Given the description of an element on the screen output the (x, y) to click on. 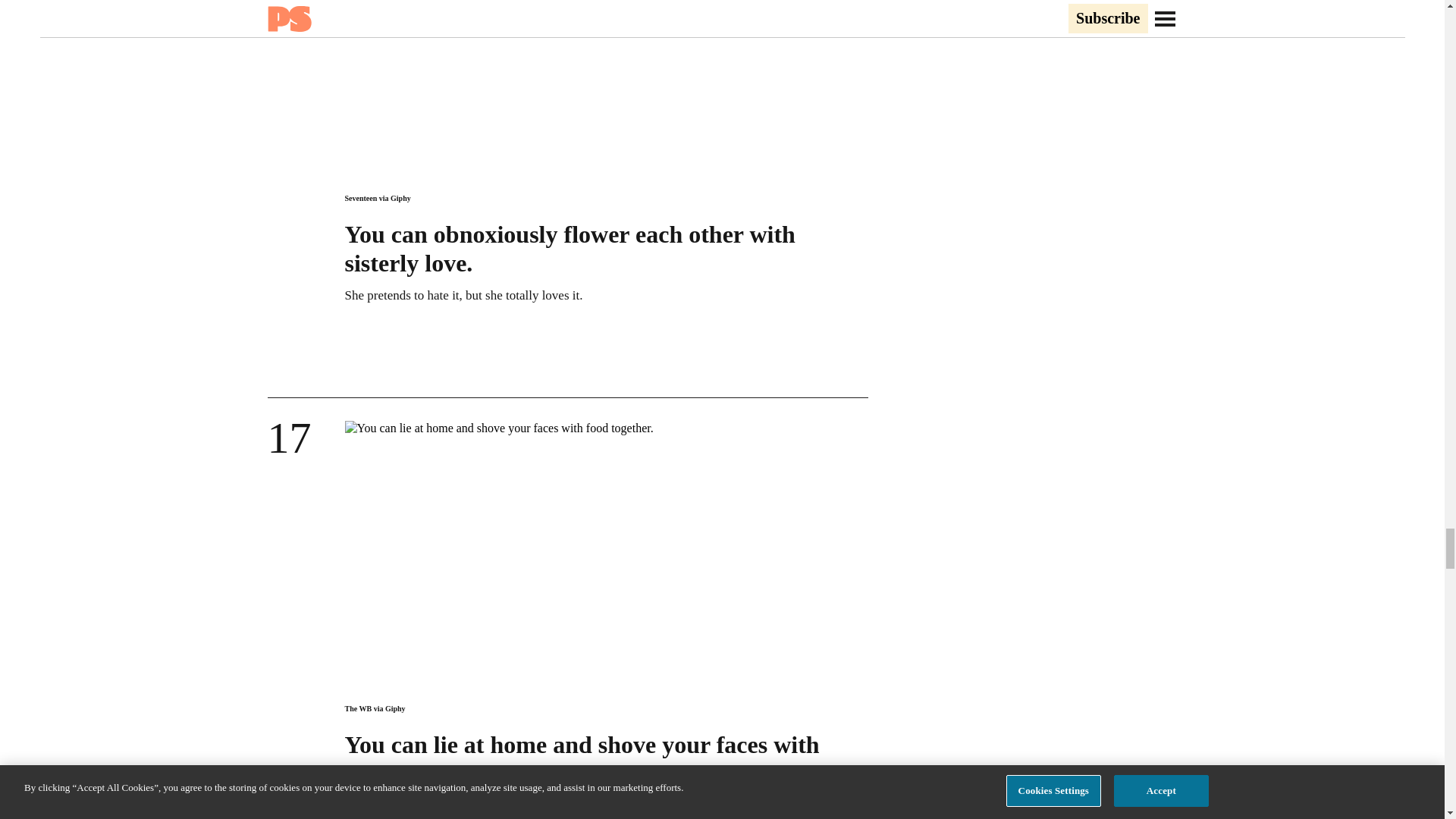
The WB via Giphy (373, 708)
Seventeen via Giphy (376, 198)
